Given the description of an element on the screen output the (x, y) to click on. 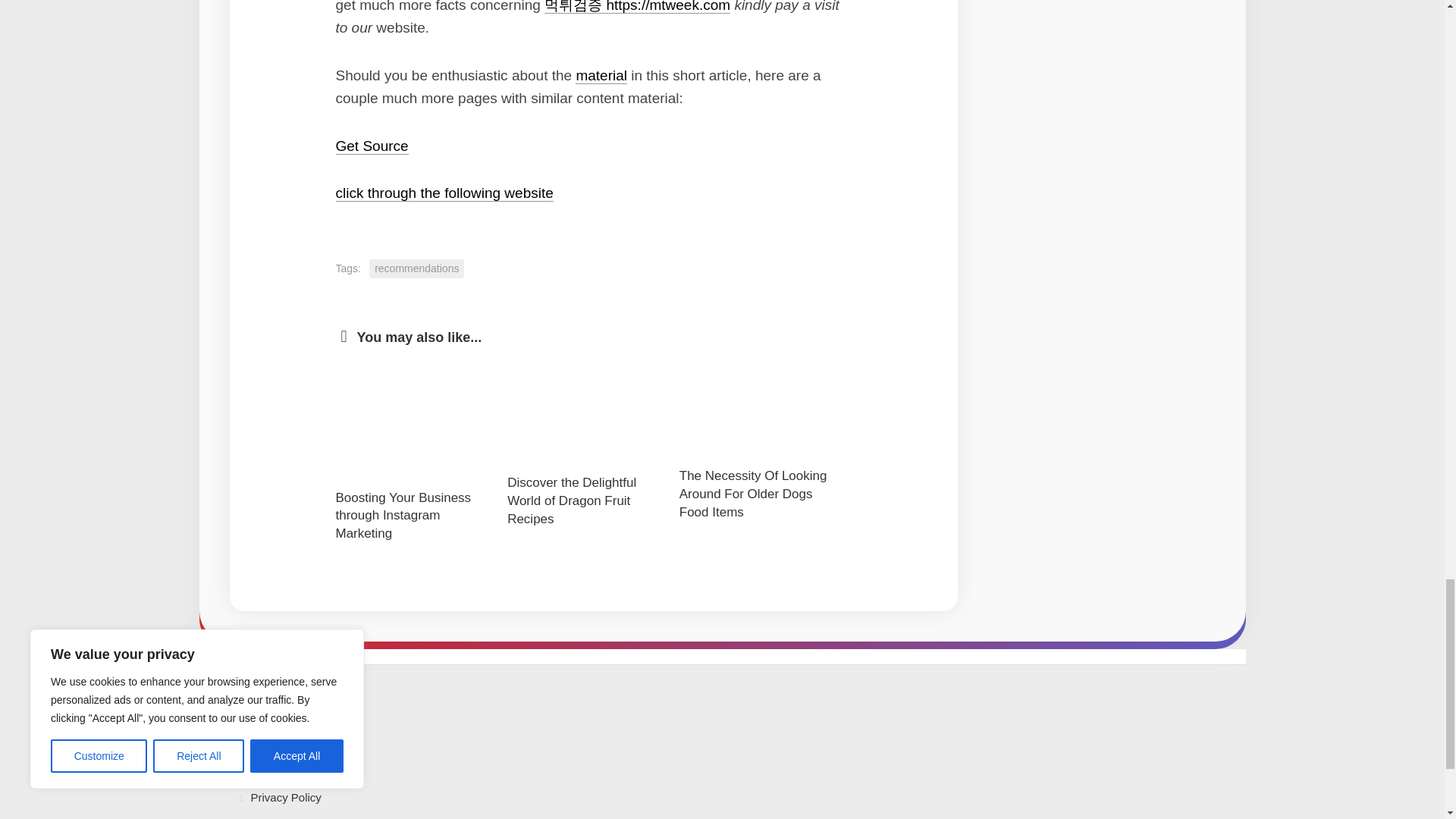
Discover the Delightful World of Dragon Fruit Recipes (571, 500)
The Necessity Of Looking Around For Older Dogs Food Items (753, 493)
click through the following website (443, 192)
Get Source (370, 145)
Boosting Your Business through Instagram Marketing (402, 515)
material (601, 75)
recommendations (416, 268)
